Given the description of an element on the screen output the (x, y) to click on. 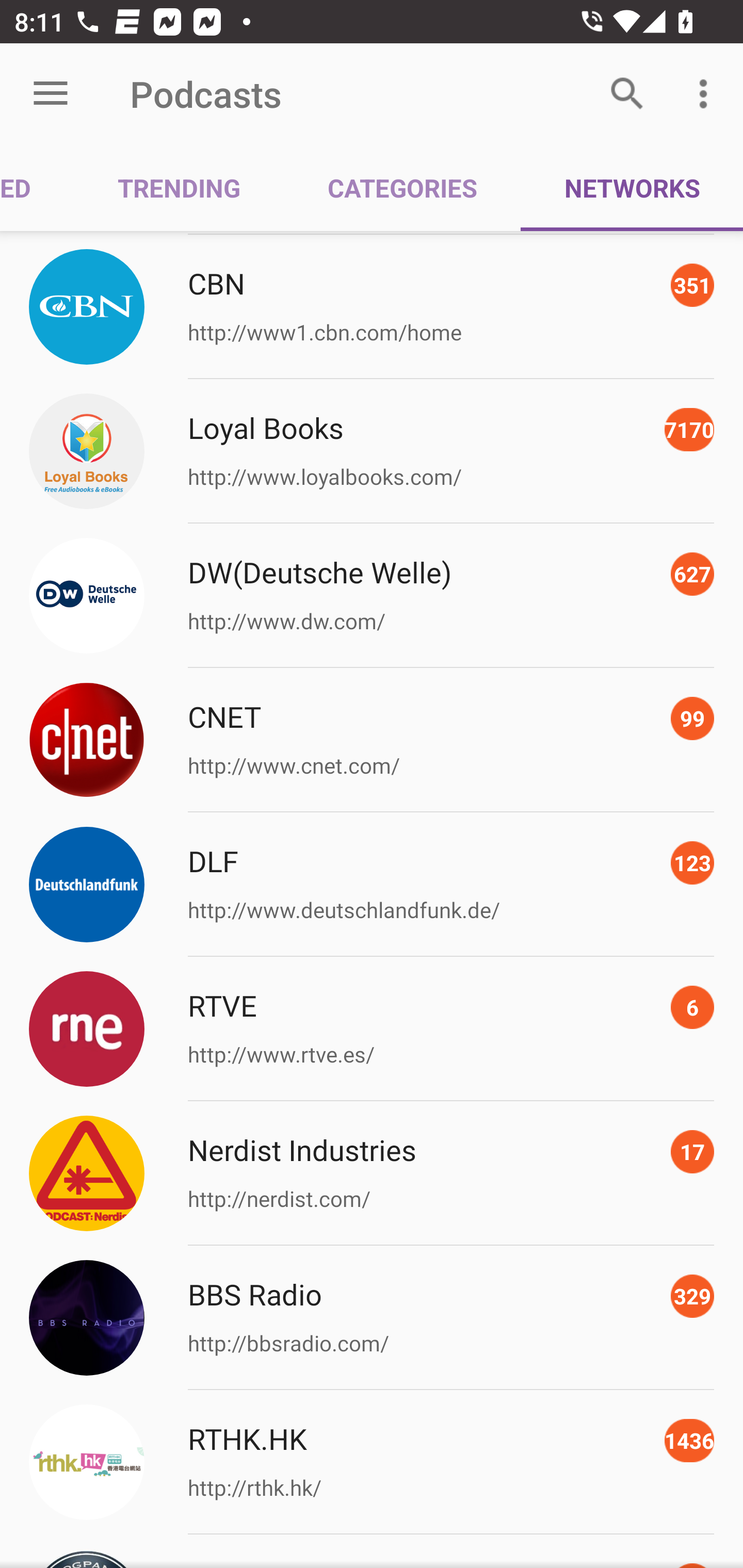
Open menu (50, 93)
Search (626, 93)
More options (706, 93)
TRENDING (178, 187)
CATEGORIES (401, 187)
NETWORKS (631, 187)
Picture CBN 351 http://www1.cbn.com/home (371, 307)
Picture DW(Deutsche Welle) 627 http://www.dw.com/ (371, 595)
Picture CNET 99 http://www.cnet.com/ (371, 739)
Picture DLF 123 http://www.deutschlandfunk.de/ (371, 884)
Picture RTVE 6 http://www.rtve.es/ (371, 1028)
Picture Nerdist Industries 17 http://nerdist.com/ (371, 1172)
Picture BBS Radio 329 http://bbsradio.com/ (371, 1317)
Picture RTHK.HK 1436 http://rthk.hk/ (371, 1462)
